Given the description of an element on the screen output the (x, y) to click on. 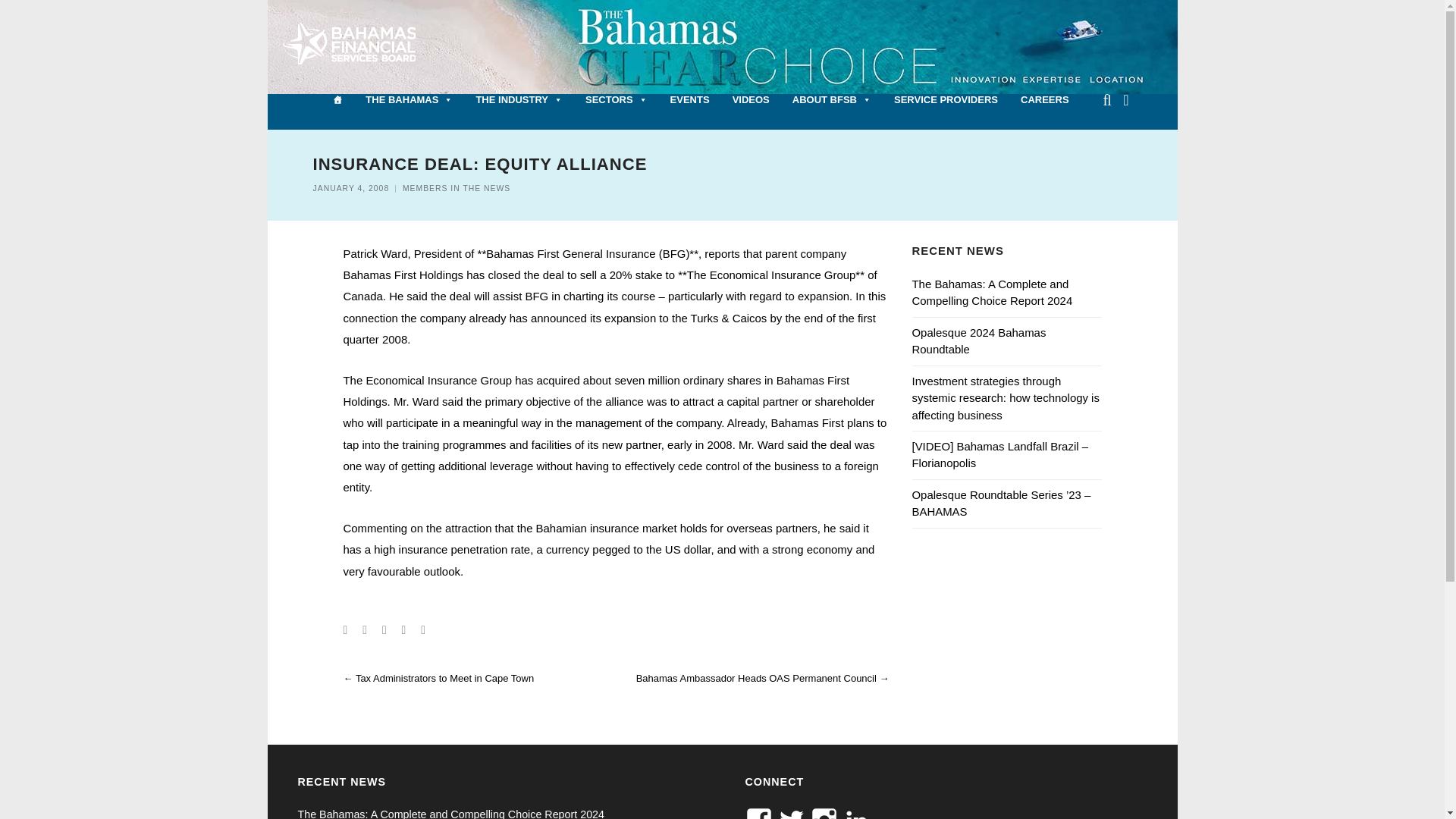
View all posts in Members in the News (457, 188)
